Given the description of an element on the screen output the (x, y) to click on. 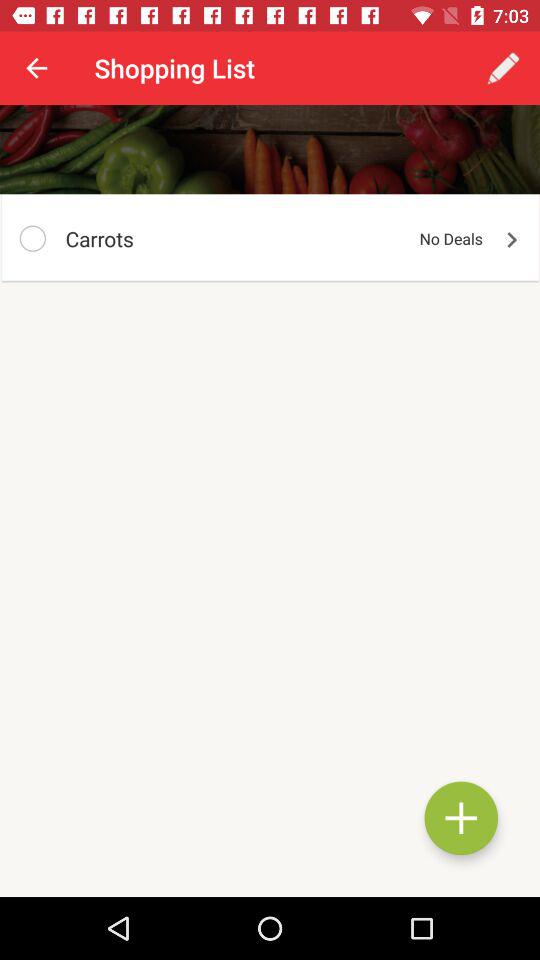
tap the app to the right of shopping list item (503, 67)
